Given the description of an element on the screen output the (x, y) to click on. 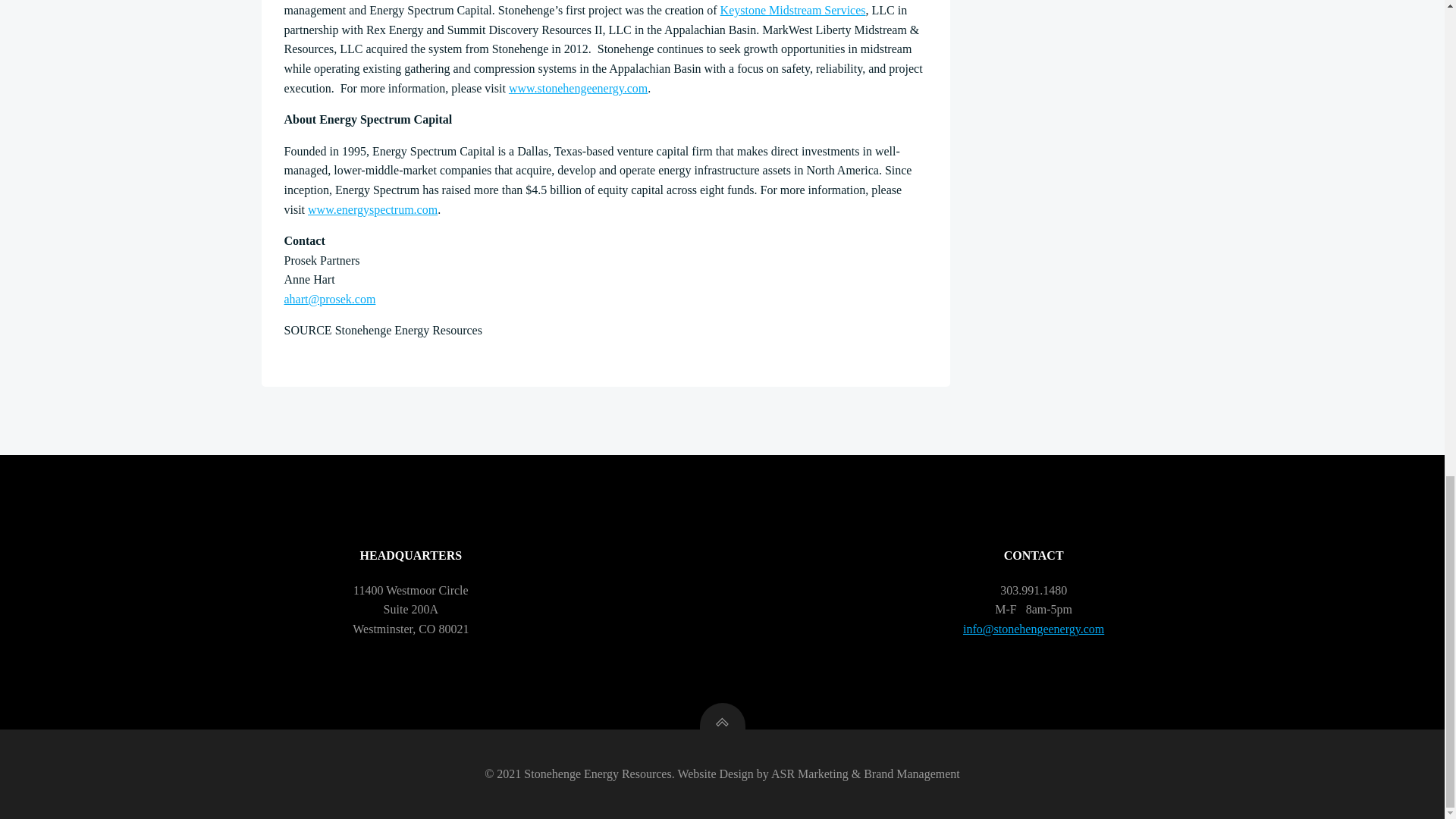
www.stonehengeenergy.com (577, 88)
Keystone Midstream Services (793, 10)
www.energyspectrum.com (372, 209)
